Given the description of an element on the screen output the (x, y) to click on. 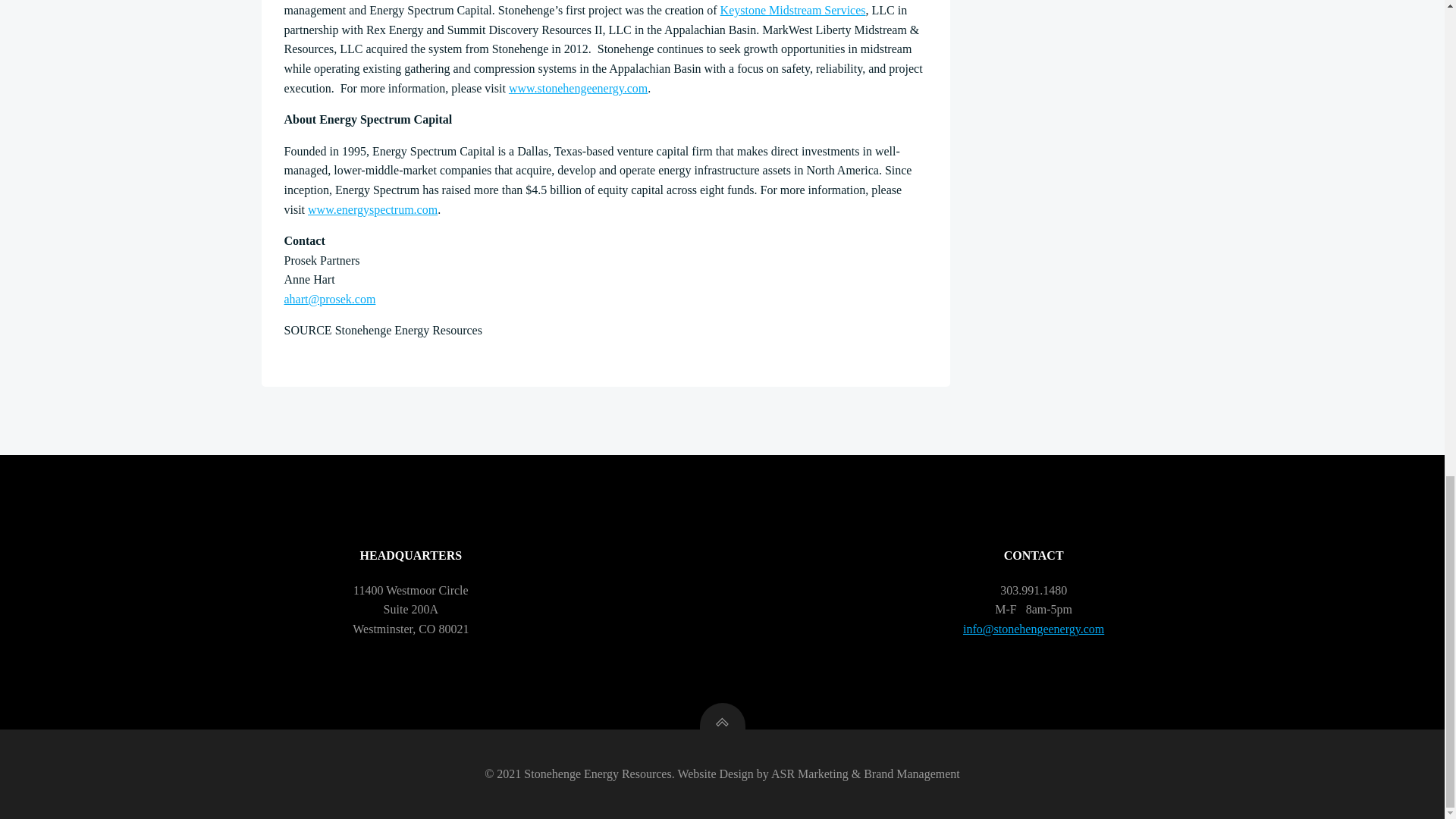
www.stonehengeenergy.com (577, 88)
Keystone Midstream Services (793, 10)
www.energyspectrum.com (372, 209)
